Given the description of an element on the screen output the (x, y) to click on. 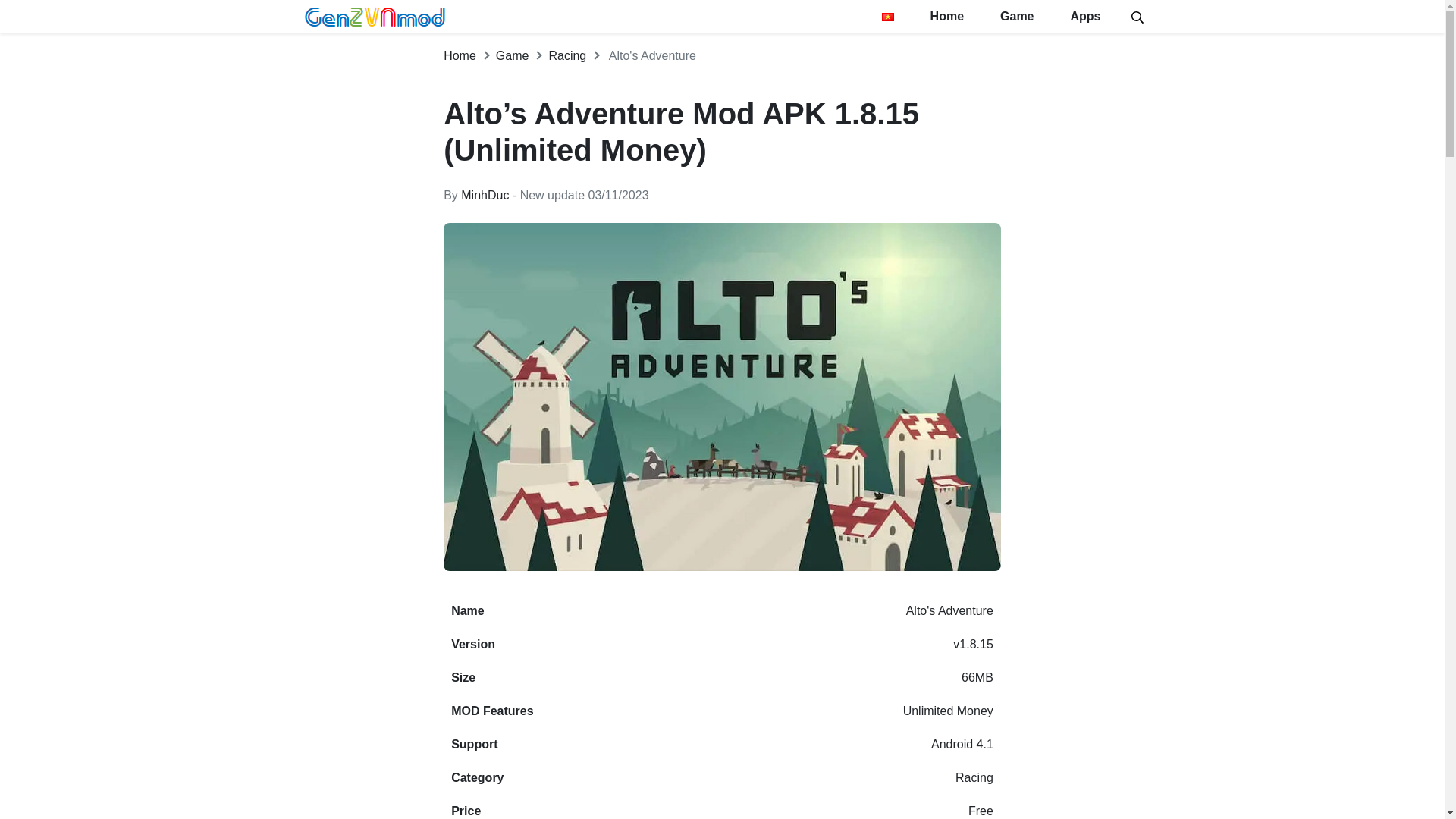
Home (946, 16)
Home (460, 55)
Game (512, 55)
Game (1016, 16)
Apps (1085, 16)
Racing (973, 777)
Racing (567, 55)
MinhDuc (484, 195)
Home (460, 55)
